Given the description of an element on the screen output the (x, y) to click on. 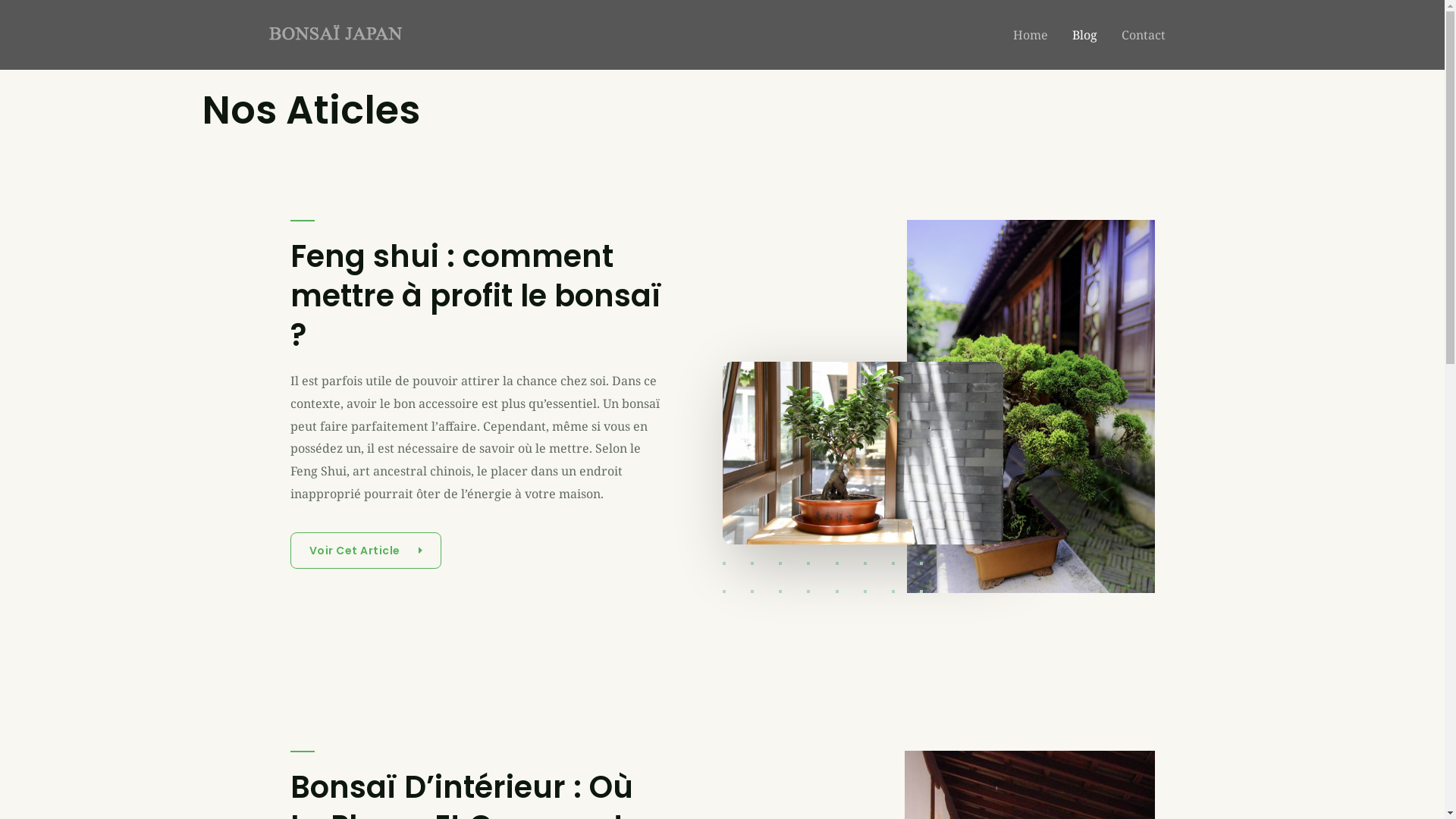
Contact Element type: text (1142, 34)
Home Element type: text (1030, 34)
Voir Cet Article Element type: text (365, 550)
Blog Element type: text (1084, 34)
